Given the description of an element on the screen output the (x, y) to click on. 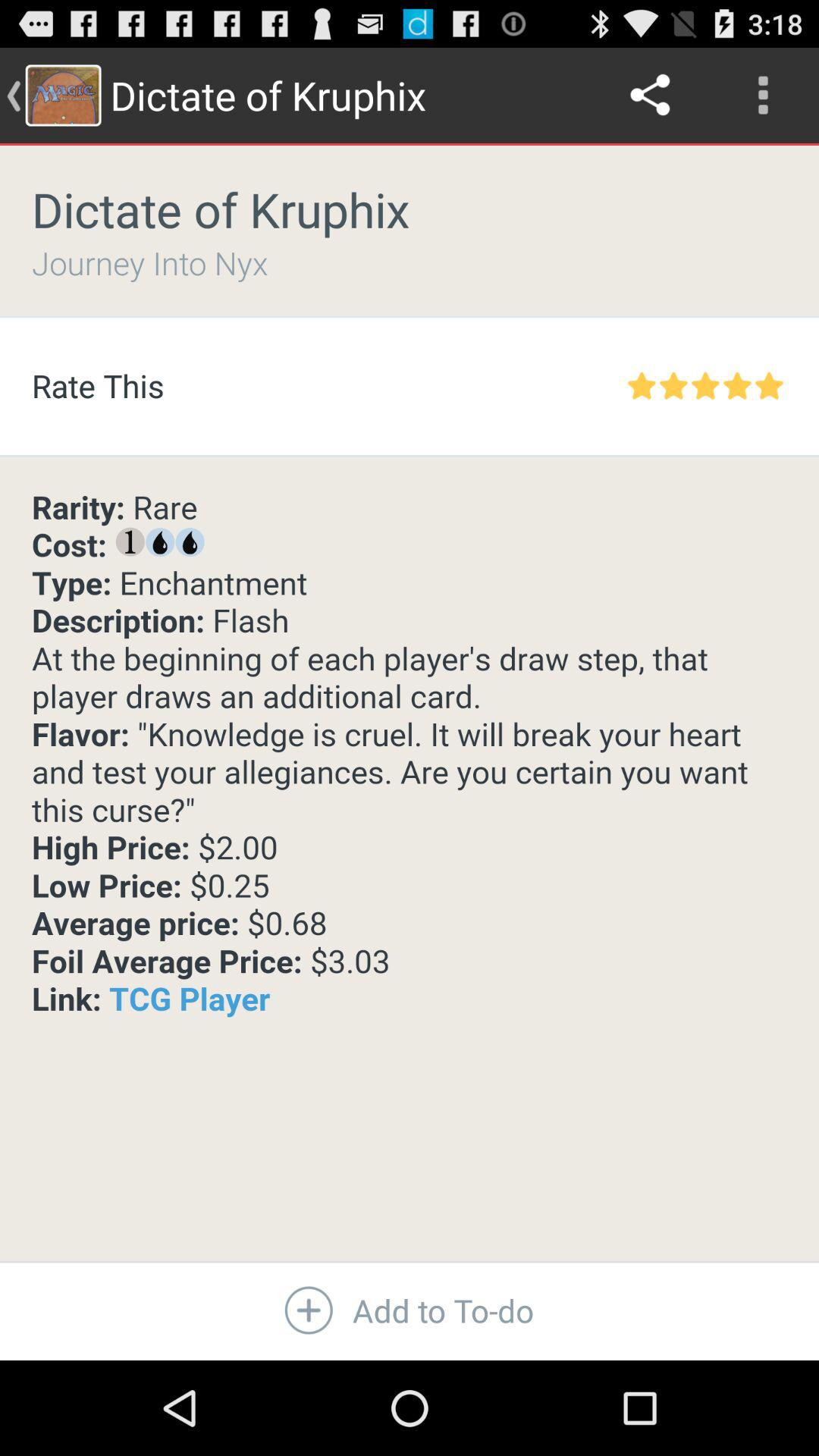
click the item next to dictate of kruphix app (651, 95)
